Given the description of an element on the screen output the (x, y) to click on. 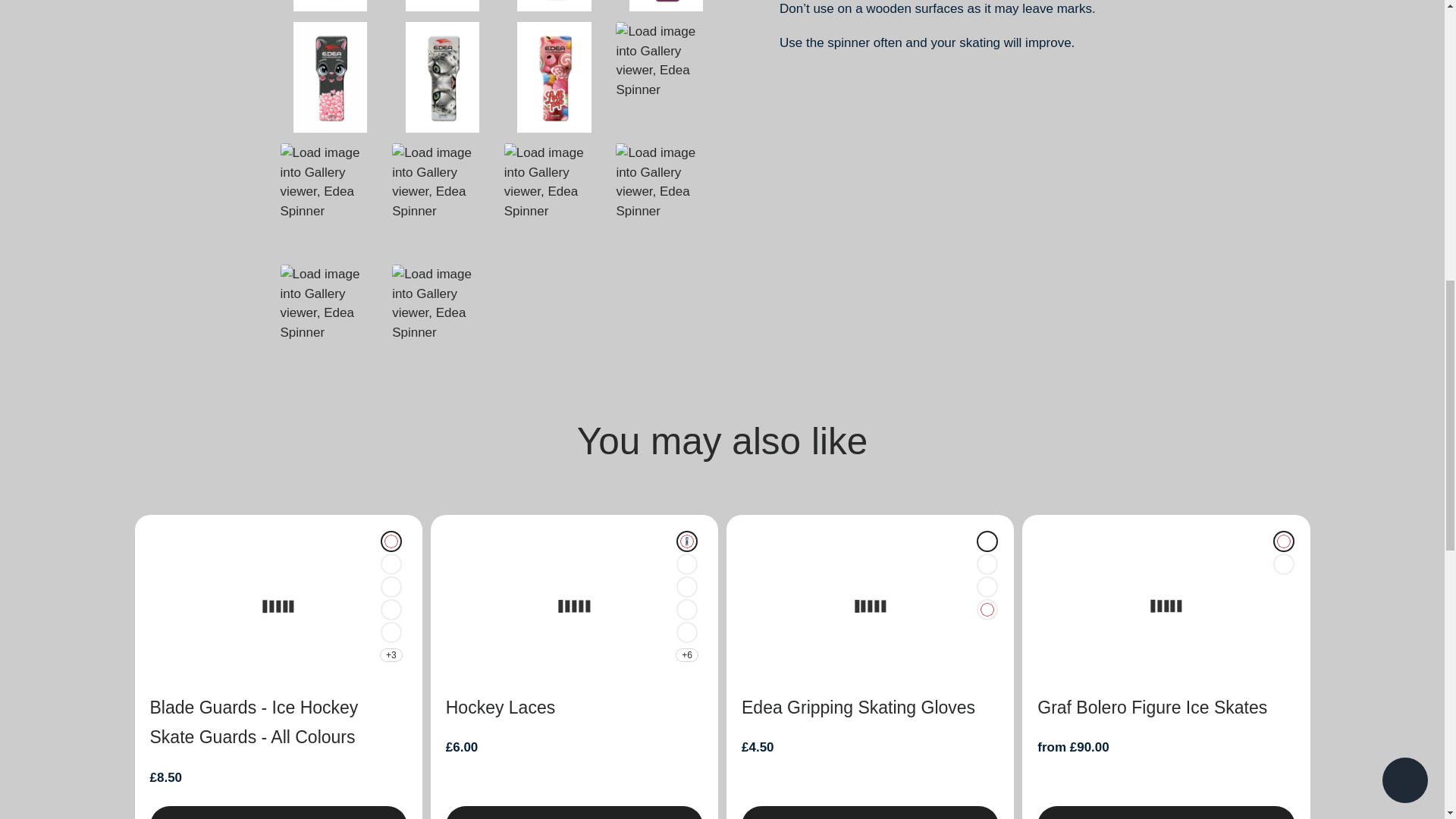
White (390, 540)
Blue (390, 563)
Yellow (686, 586)
Blue glitz (390, 586)
White (986, 609)
Silver (390, 609)
Beige (986, 563)
Red (686, 609)
White (686, 540)
Lime (686, 632)
